Given the description of an element on the screen output the (x, y) to click on. 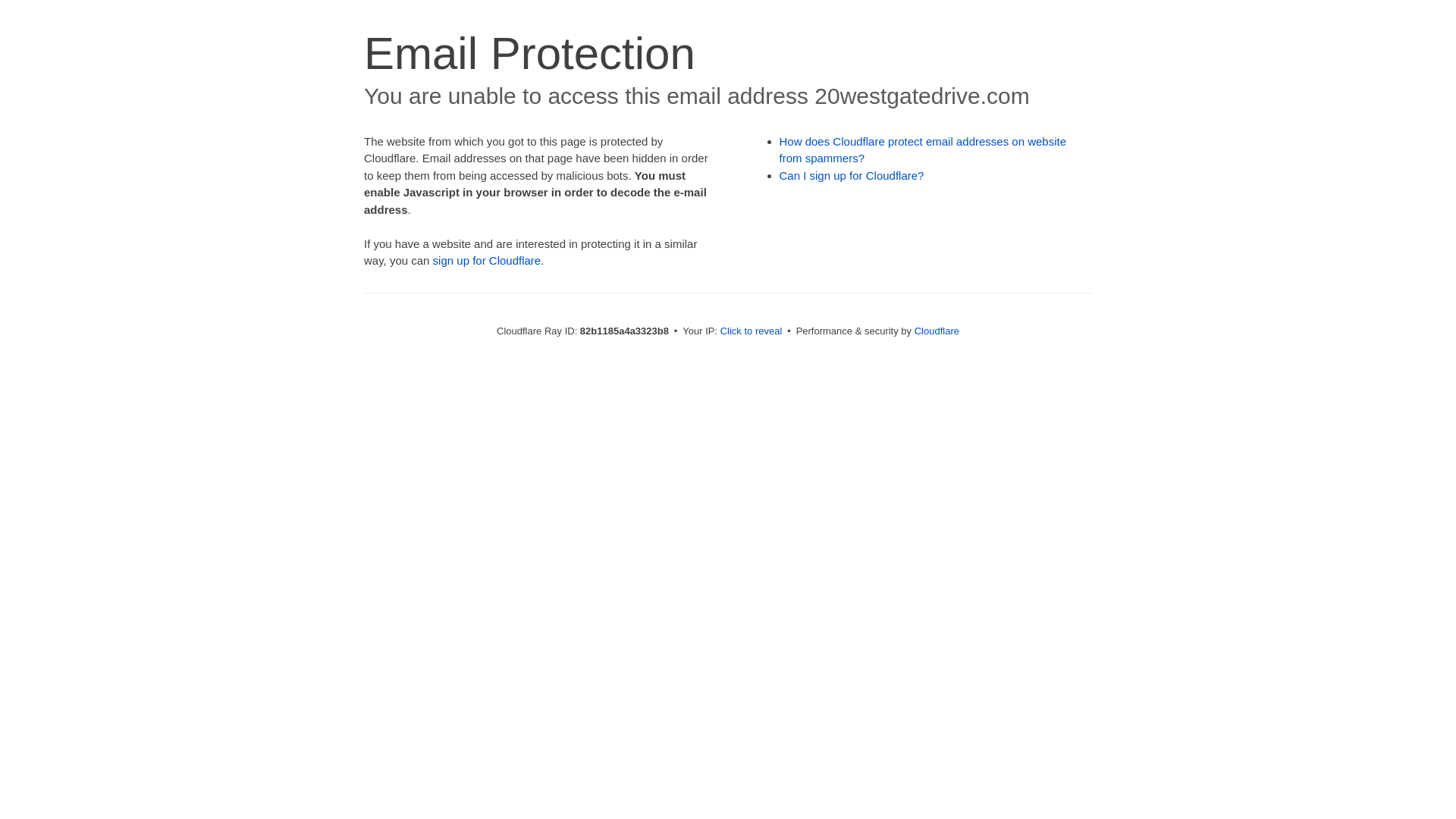
Click to reveal Element type: text (751, 330)
Can I sign up for Cloudflare? Element type: text (851, 175)
sign up for Cloudflare Element type: text (487, 260)
Cloudflare Element type: text (936, 330)
